Given the description of an element on the screen output the (x, y) to click on. 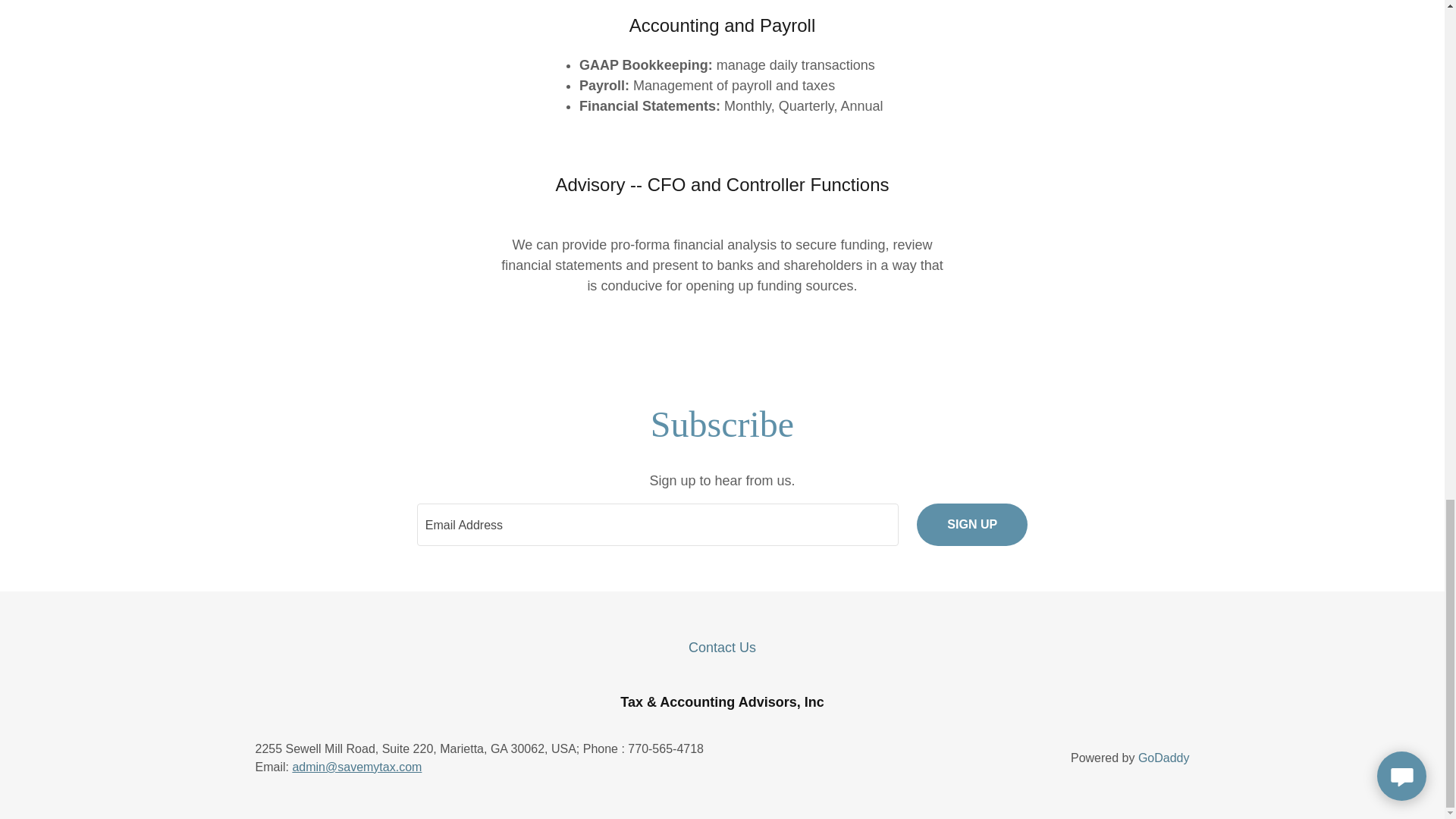
Contact Us (721, 647)
SIGN UP (972, 524)
GoDaddy (1163, 757)
